Given the description of an element on the screen output the (x, y) to click on. 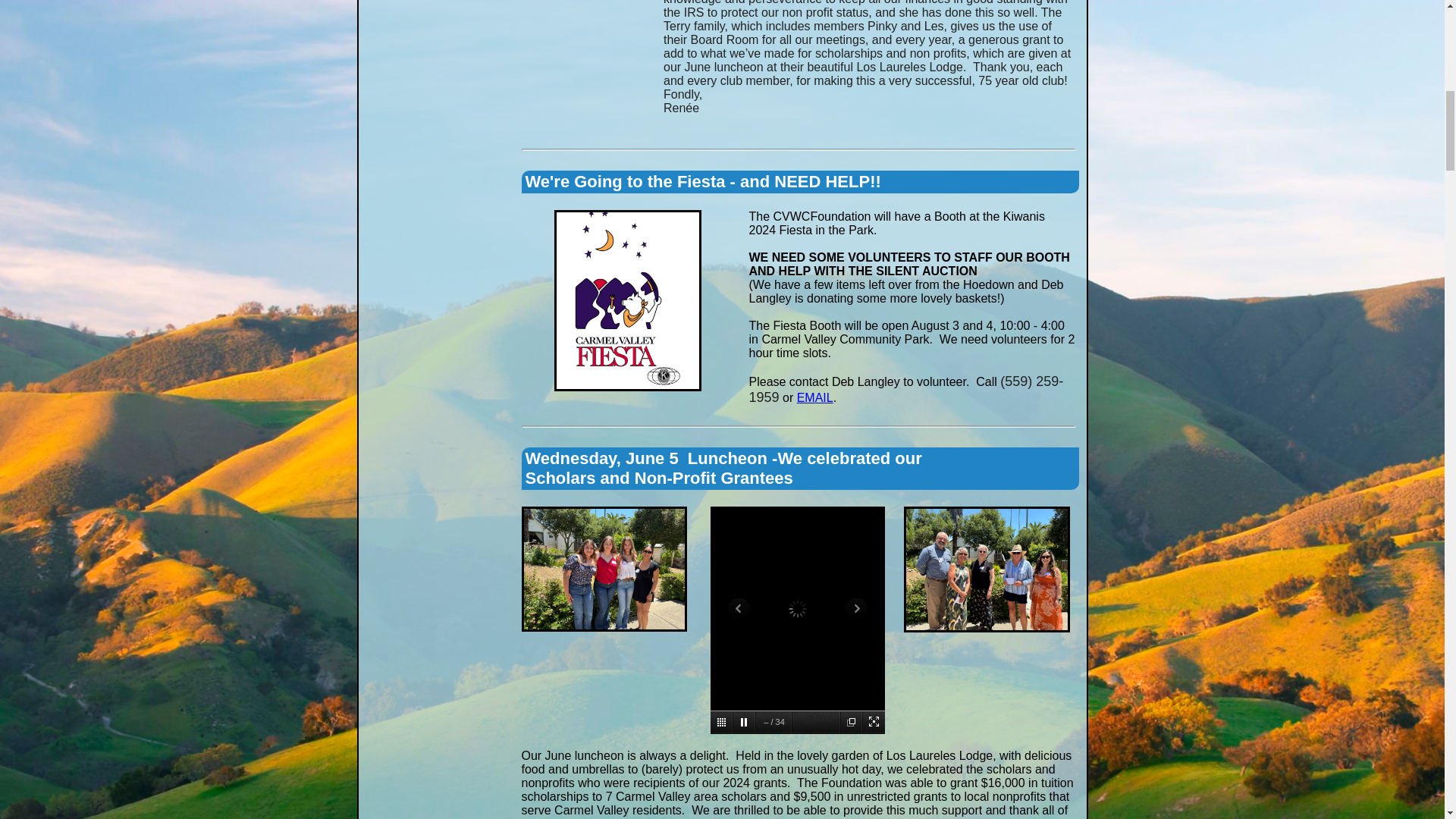
nonprofits (987, 569)
EMAIL (814, 397)
scholars 2024 (604, 568)
